Given the description of an element on the screen output the (x, y) to click on. 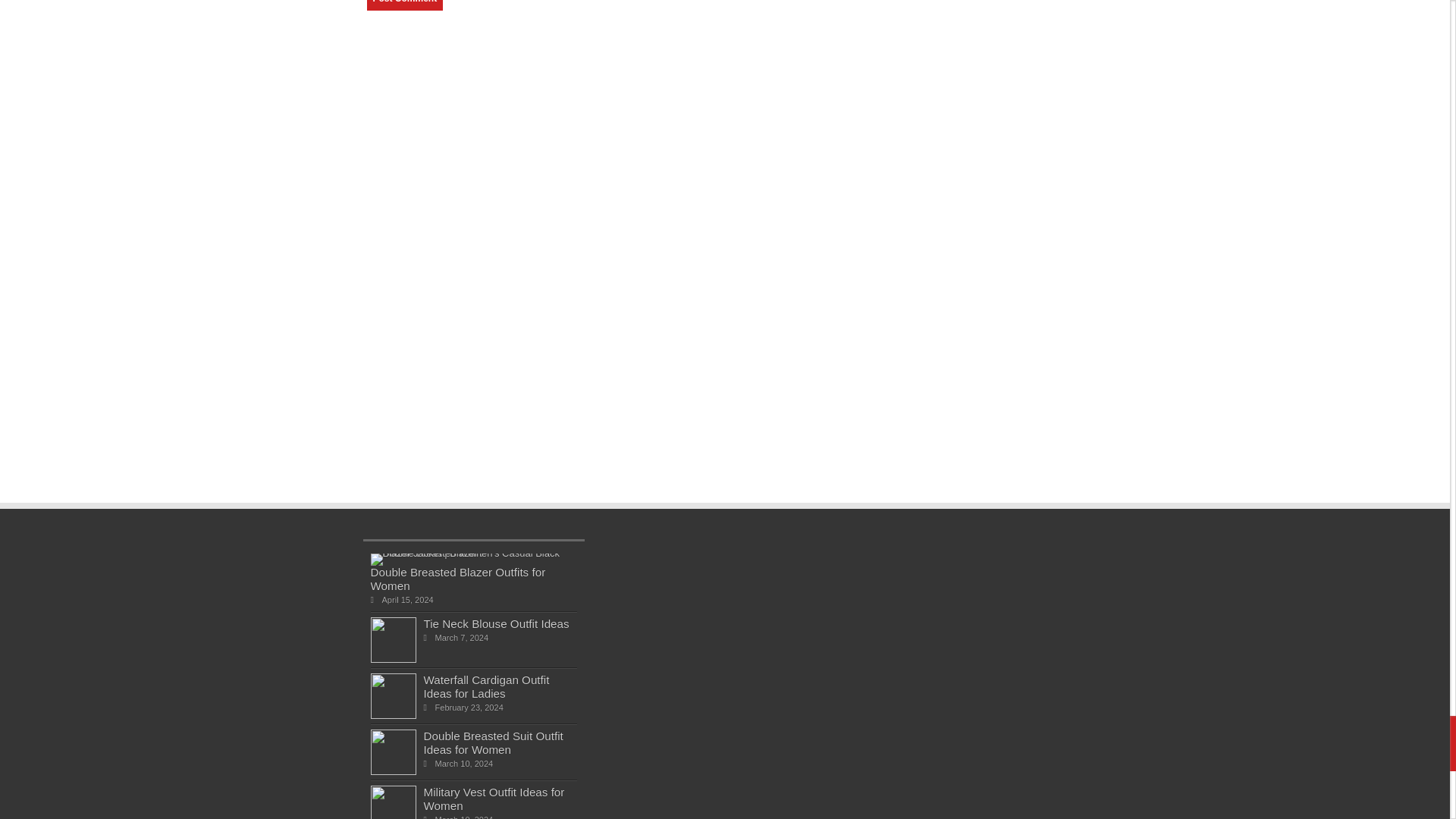
Double Breasted Blazer Outfits for Women (456, 578)
Post Comment (405, 5)
Waterfall Cardigan Outfit Ideas for Ladies (485, 686)
Tie Neck Blouse Outfit Ideas (496, 623)
Double Breasted Suit Outfit Ideas for Women (469, 552)
Permalink to Tie Neck Blouse Outfit Ideas (492, 742)
Post Comment (391, 659)
